Given the description of an element on the screen output the (x, y) to click on. 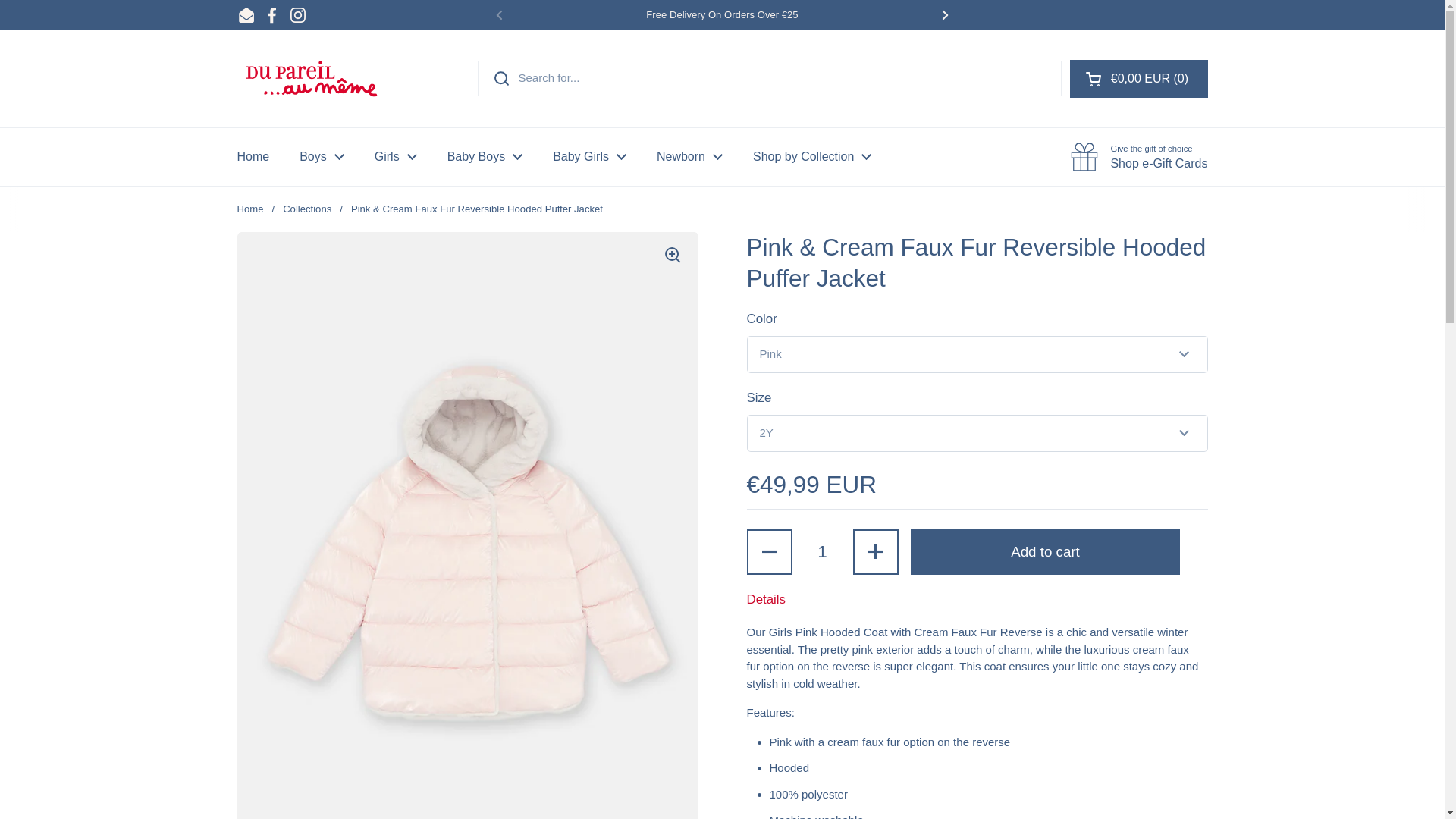
Open cart (1139, 78)
Boys  (321, 156)
Baby Boys (484, 156)
Email (244, 14)
Home (252, 156)
Du Pareil Au Meme Ireland (310, 78)
Home (252, 156)
1 (822, 551)
Girls (395, 156)
Girls (395, 156)
Facebook (271, 14)
Boys (321, 156)
Instagram (296, 14)
